Given the description of an element on the screen output the (x, y) to click on. 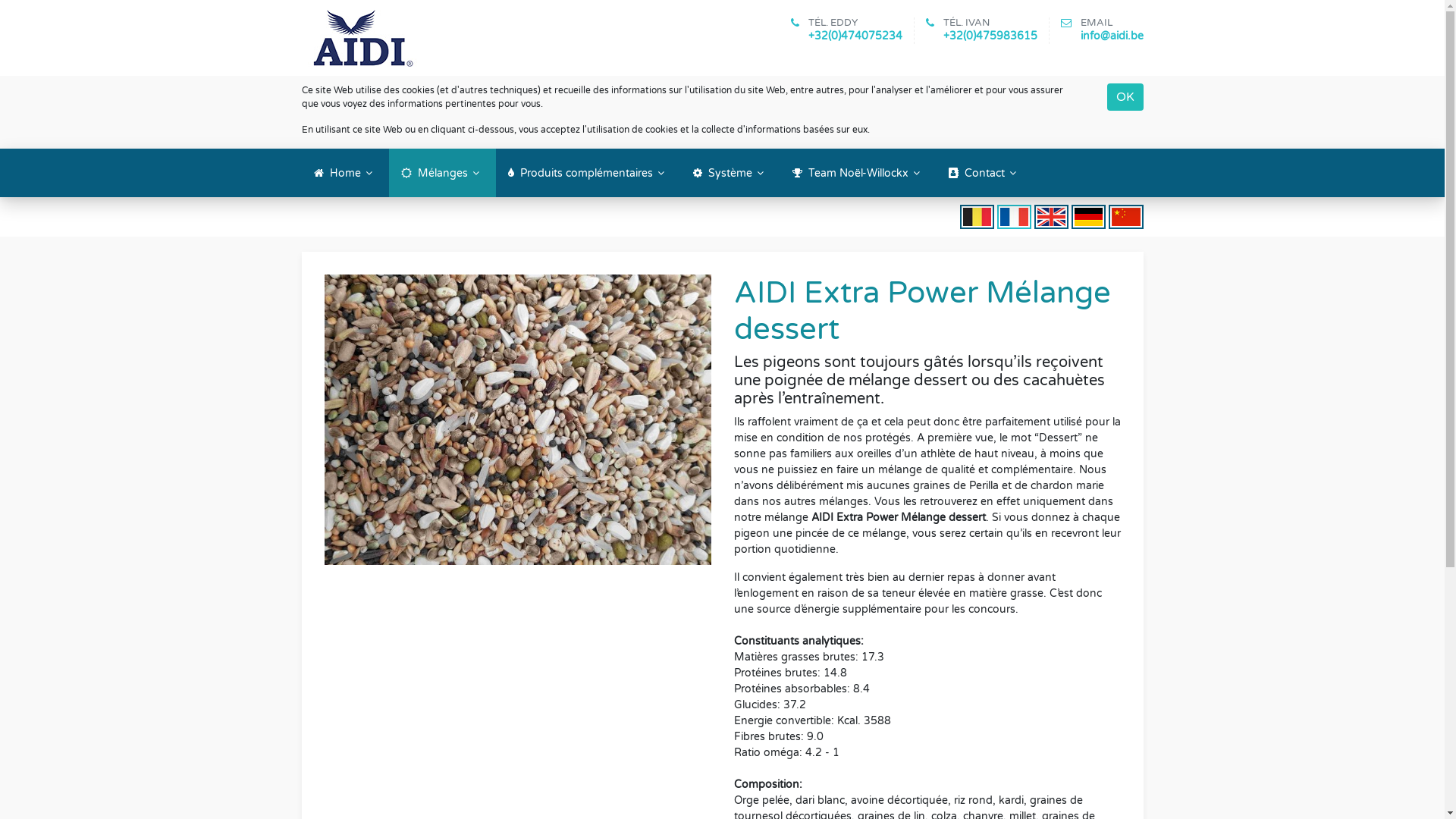
Nederlands Element type: hover (977, 216)
AIDI Mix 1 Element type: text (506, 214)
+32(0)475983615 Element type: text (990, 34)
English Element type: hover (1051, 216)
AIDI Calcium Forte Element type: text (603, 214)
Intro Element type: text (386, 214)
Contactez-nous Element type: text (1021, 214)
OK Element type: text (1125, 96)
info@aidi.be Element type: text (1110, 34)
Contact Element type: text (984, 172)
Home Element type: text (345, 172)
Deutsch Element type: hover (1088, 216)
+32(0)474075234 Element type: text (855, 34)
Nouvelles Element type: text (865, 214)
